Given the description of an element on the screen output the (x, y) to click on. 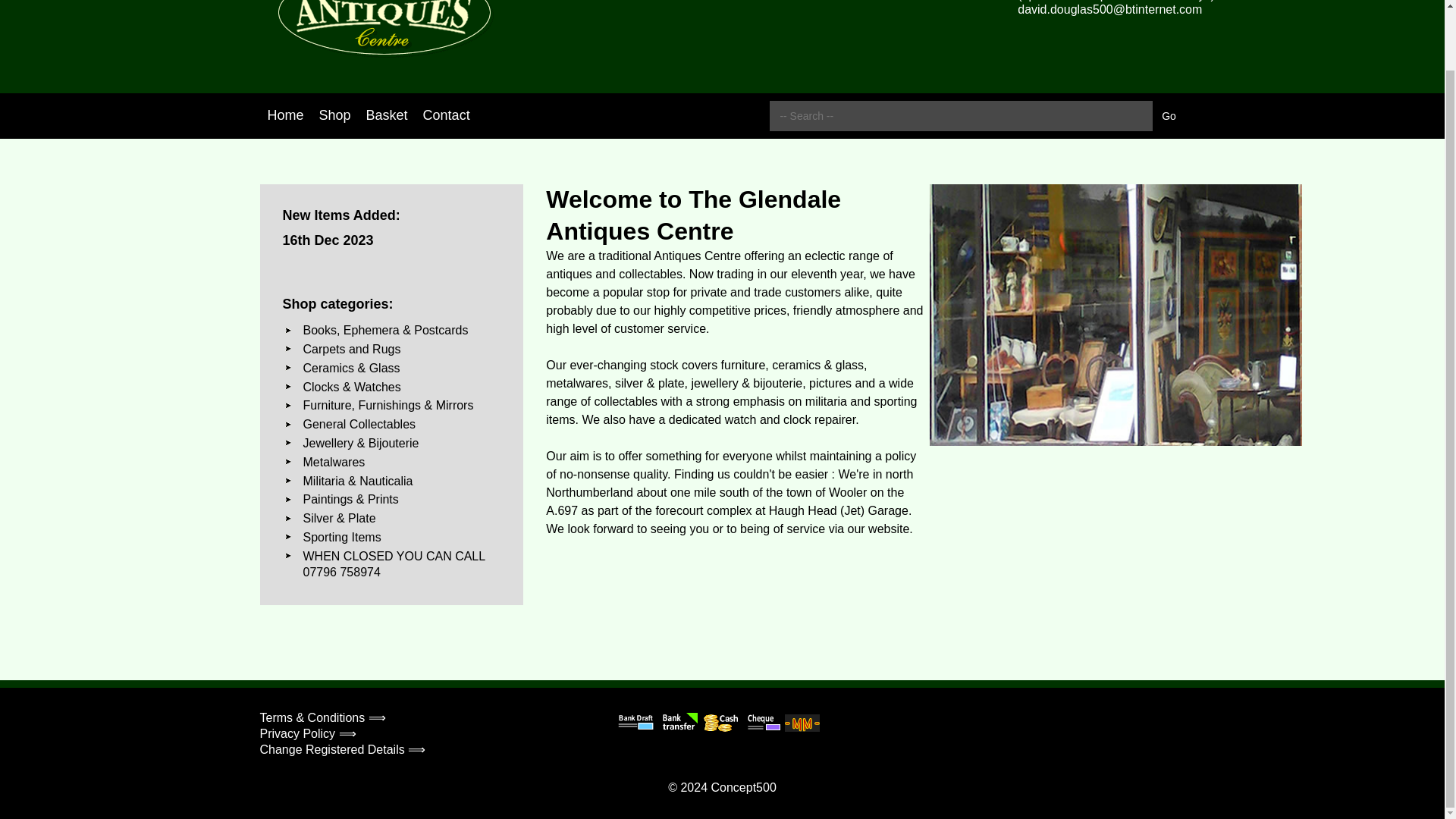
Go (1169, 115)
Concept500 (743, 787)
Sporting Items (341, 536)
Shop (334, 115)
Cash (721, 722)
Bank Transfer (679, 722)
Contact (445, 115)
Basket (386, 115)
General Collectables (359, 423)
Bank Draft (636, 722)
